Given the description of an element on the screen output the (x, y) to click on. 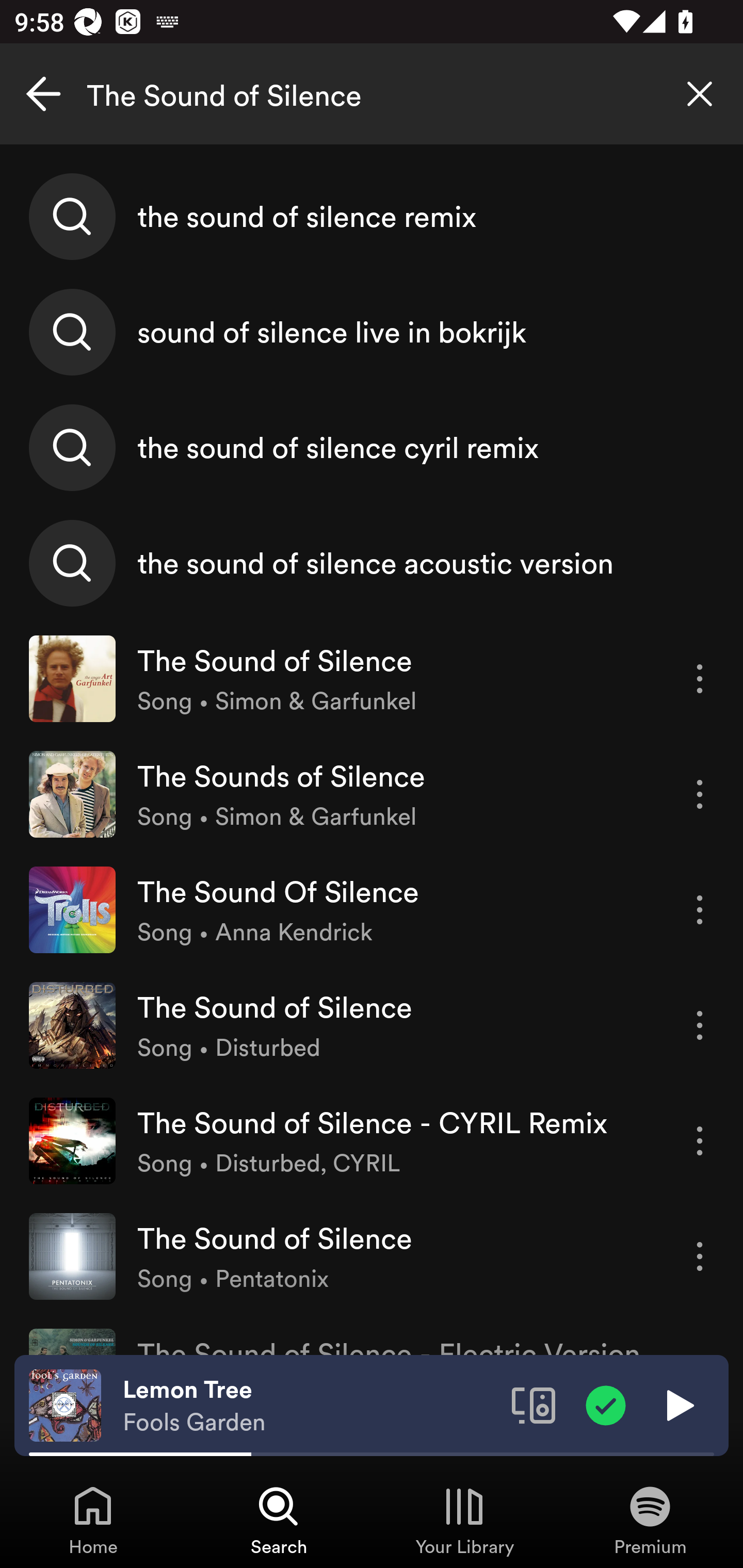
The Sound of Silence (371, 93)
Cancel (43, 93)
Clear search query (699, 93)
the sound of silence remix (371, 216)
sound of silence live in bokrijk (371, 332)
the sound of silence cyril remix (371, 447)
the sound of silence acoustic version (371, 562)
More options for song The Sound of Silence (699, 678)
More options for song The Sounds of Silence (699, 794)
More options for song The Sound Of Silence (699, 910)
More options for song The Sound of Silence (699, 1025)
More options for song The Sound of Silence (699, 1256)
Lemon Tree Fools Garden (309, 1405)
The cover art of the currently playing track (64, 1404)
Connect to a device. Opens the devices menu (533, 1404)
Item added (605, 1404)
Play (677, 1404)
Home, Tab 1 of 4 Home Home (92, 1519)
Search, Tab 2 of 4 Search Search (278, 1519)
Your Library, Tab 3 of 4 Your Library Your Library (464, 1519)
Premium, Tab 4 of 4 Premium Premium (650, 1519)
